Given the description of an element on the screen output the (x, y) to click on. 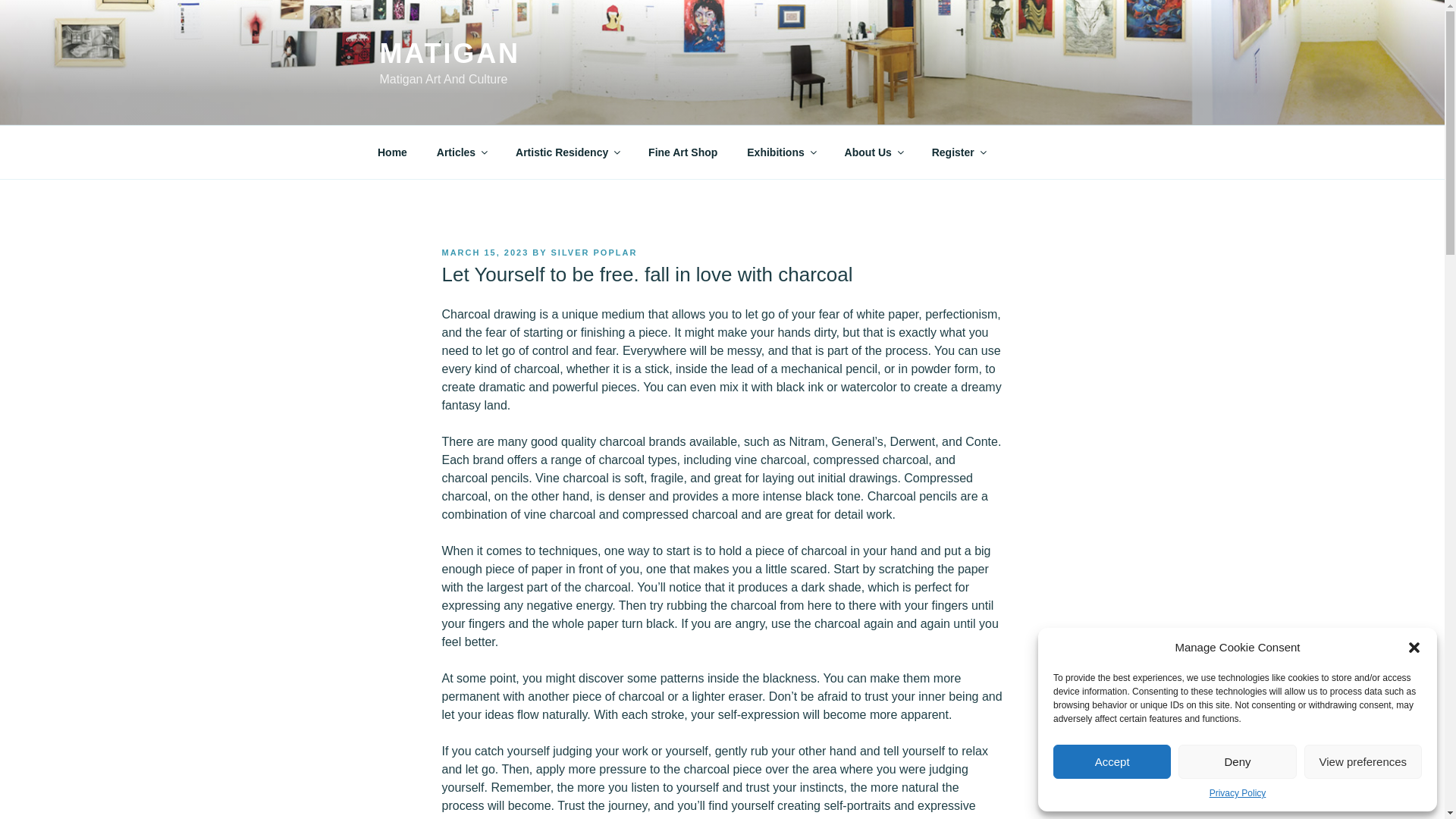
Accept (1111, 761)
Privacy Policy (1237, 793)
MATIGAN (448, 52)
Deny (1236, 761)
Home (392, 151)
Articles (461, 151)
View preferences (1363, 761)
